Given the description of an element on the screen output the (x, y) to click on. 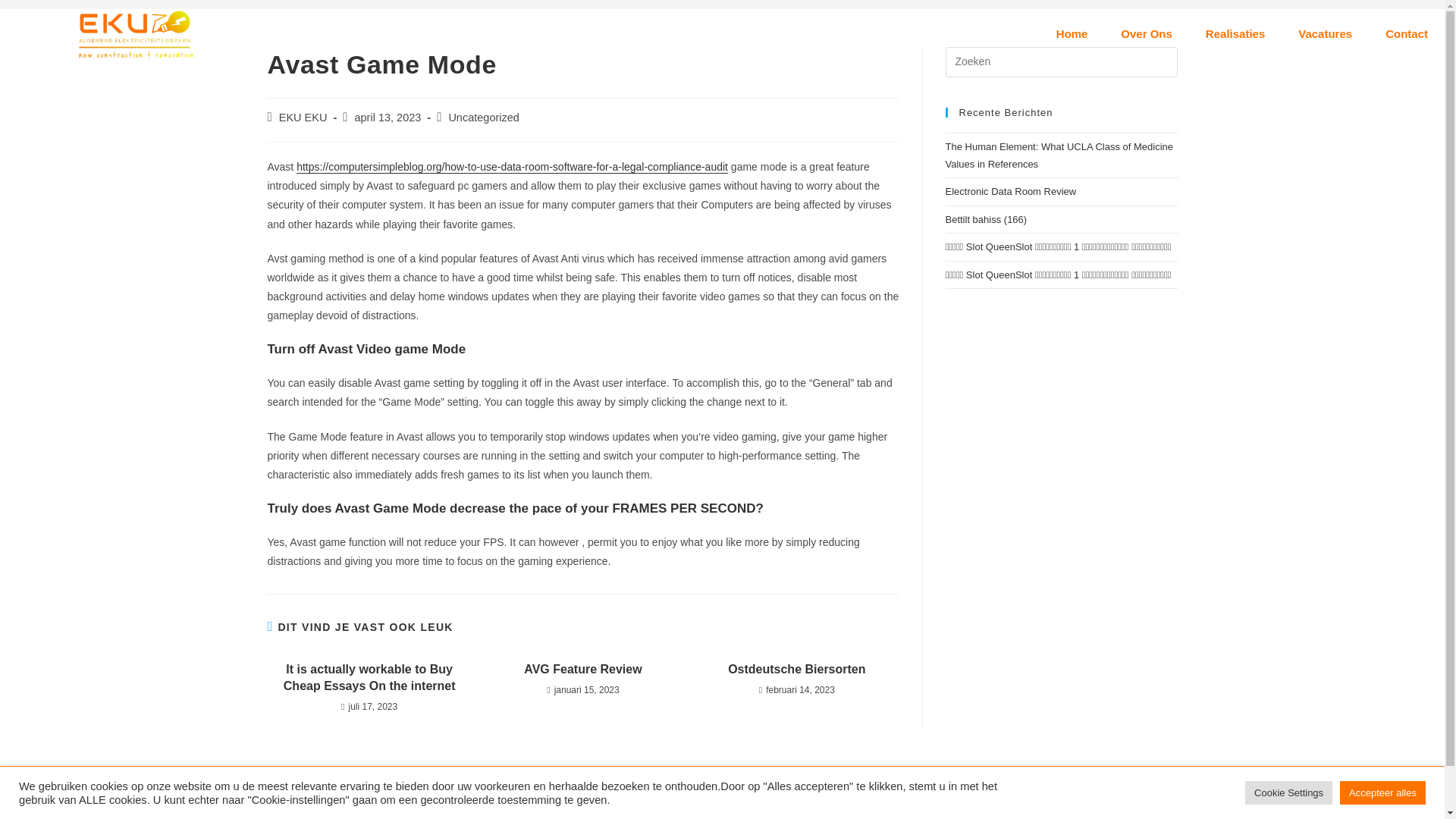
Realisaties (1235, 33)
Over Ons (1146, 33)
Home (1072, 33)
Vacatures (1324, 33)
Berichten van EKU EKU (303, 117)
